Given the description of an element on the screen output the (x, y) to click on. 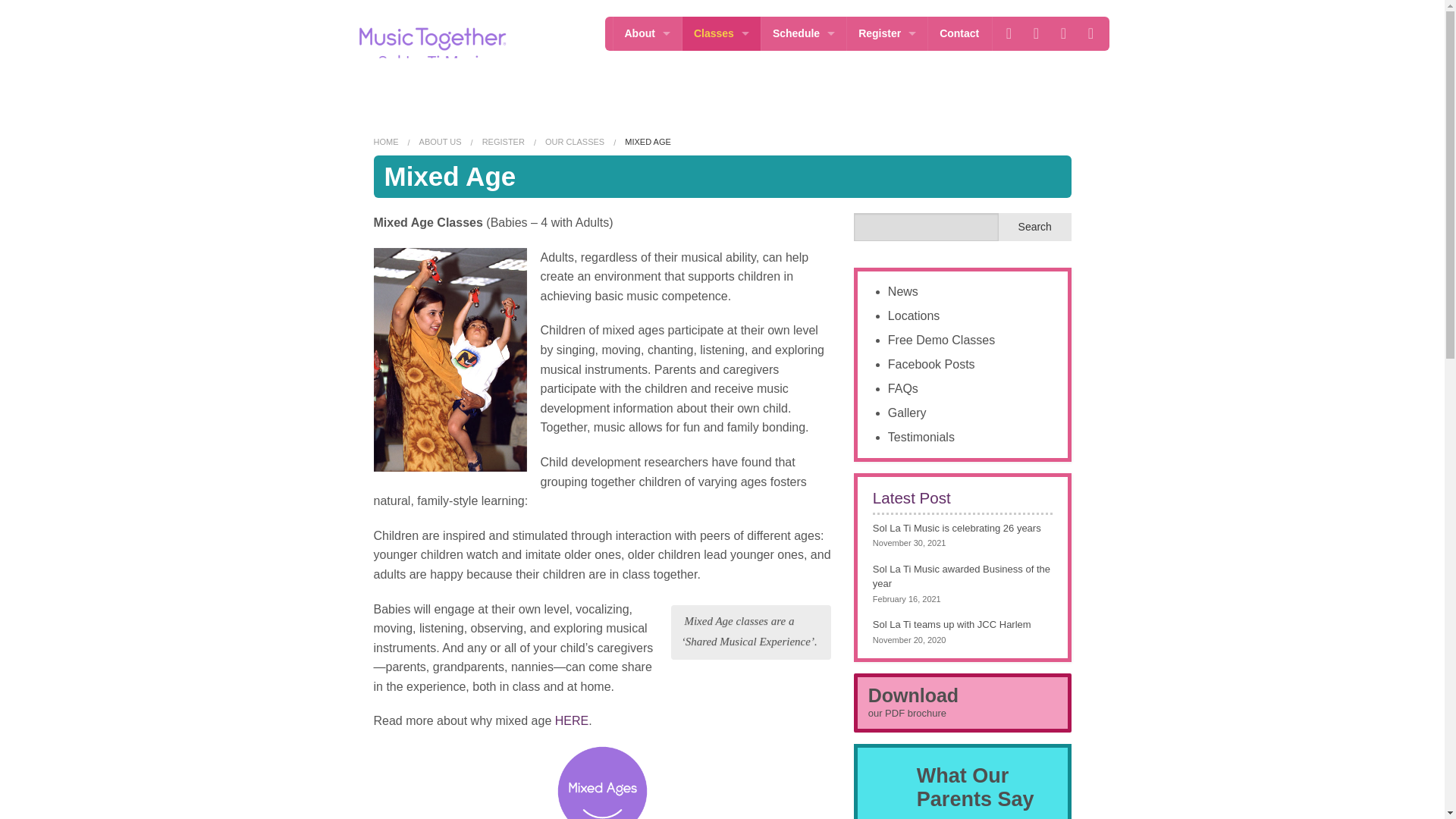
Nurture Tunes (721, 272)
Article Resources (646, 306)
Contact (959, 33)
Class Schedule (803, 101)
Sol La Ti's Music Together (432, 48)
Schedule a MakeUp Class (803, 204)
HOME (384, 141)
Calendar (803, 67)
News (646, 101)
OUR CLASSES (574, 141)
Class Fees (887, 67)
Why Mixed Age? (571, 720)
ABOUT US (440, 141)
Locations (646, 67)
Classes (721, 33)
